Given the description of an element on the screen output the (x, y) to click on. 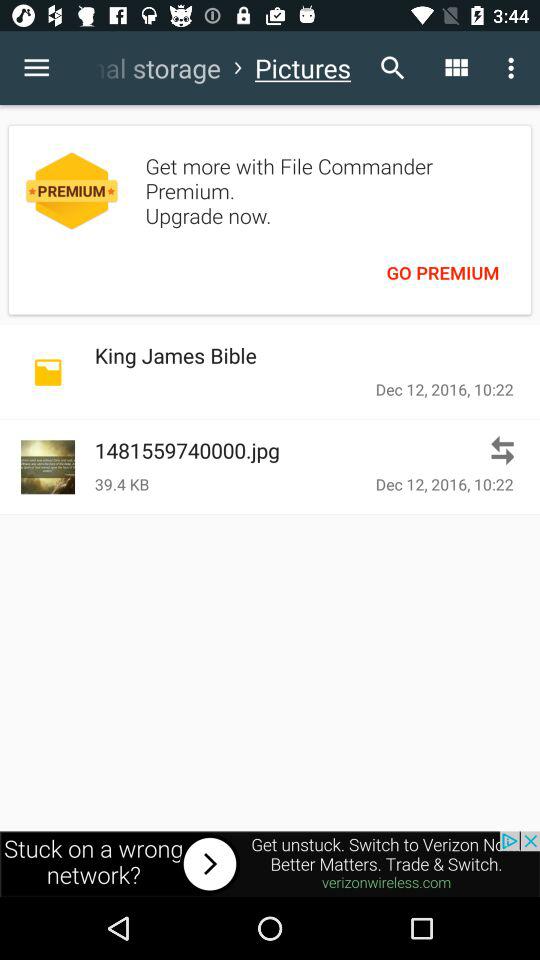
navigate to advertisement (270, 864)
